Given the description of an element on the screen output the (x, y) to click on. 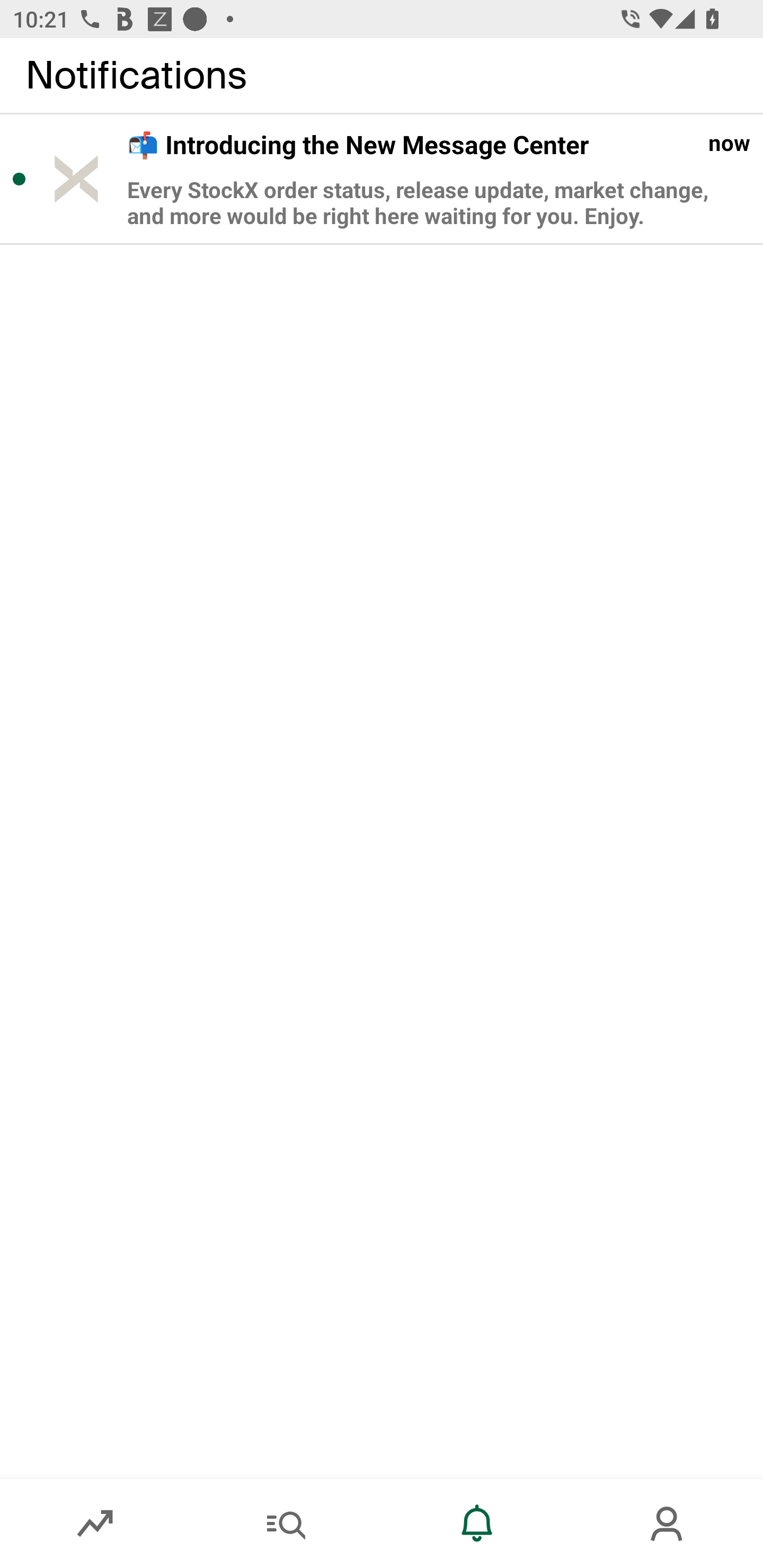
Market (95, 1523)
Search (285, 1523)
Account (667, 1523)
